Given the description of an element on the screen output the (x, y) to click on. 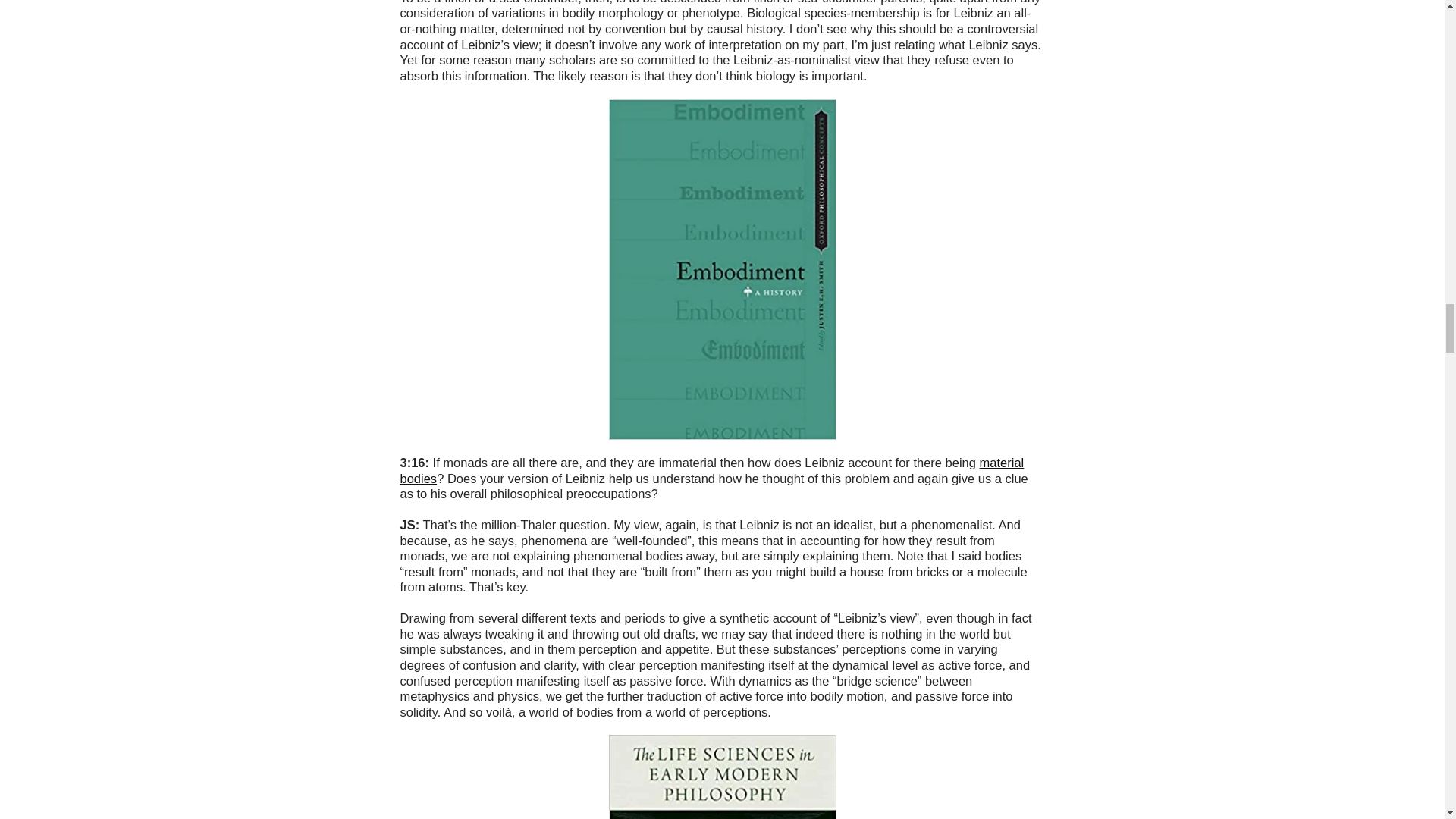
material bodies (712, 470)
